Given the description of an element on the screen output the (x, y) to click on. 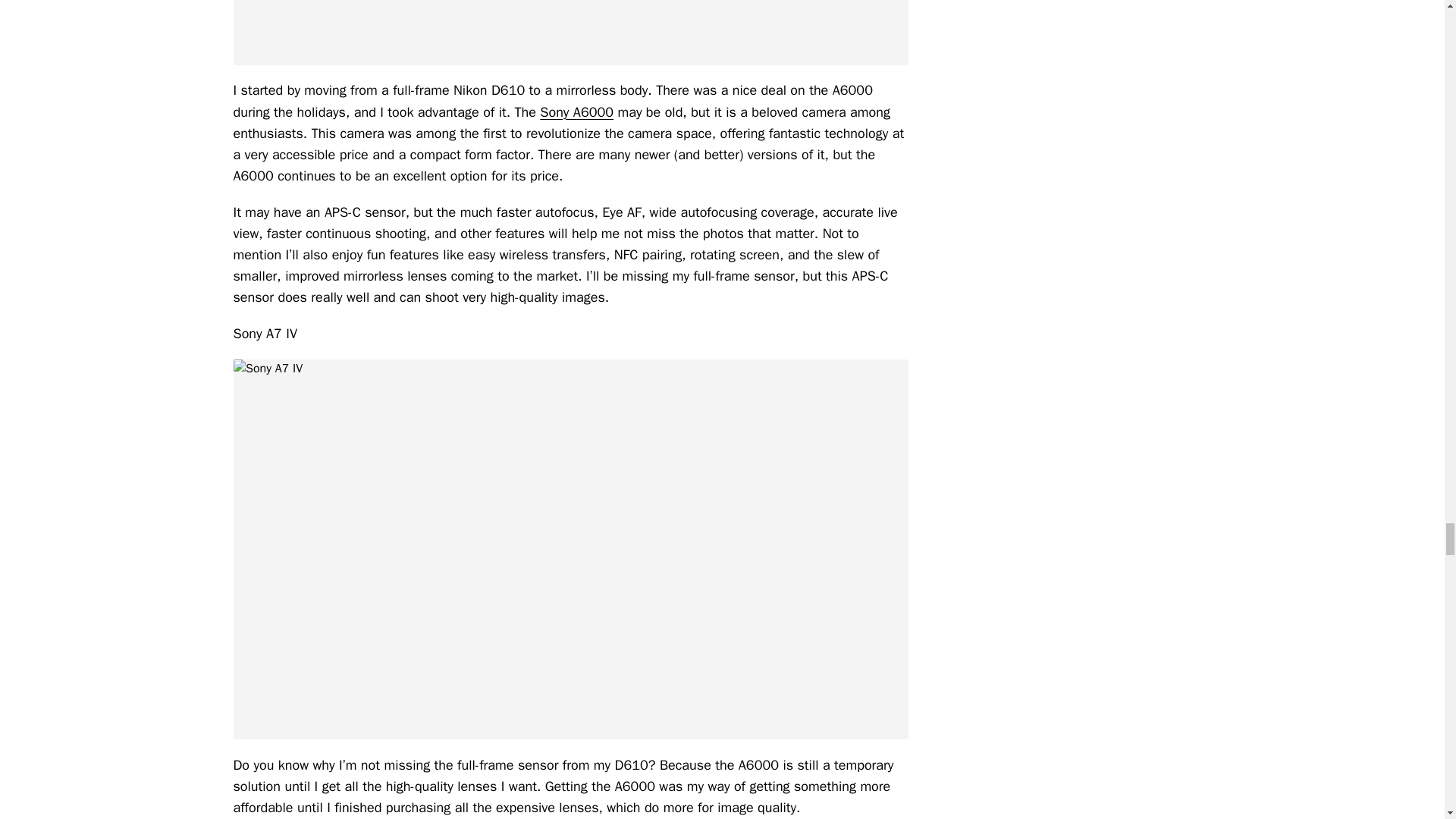
sony alpha a6000 mirrorless (570, 32)
Sony A6000 (576, 112)
